Given the description of an element on the screen output the (x, y) to click on. 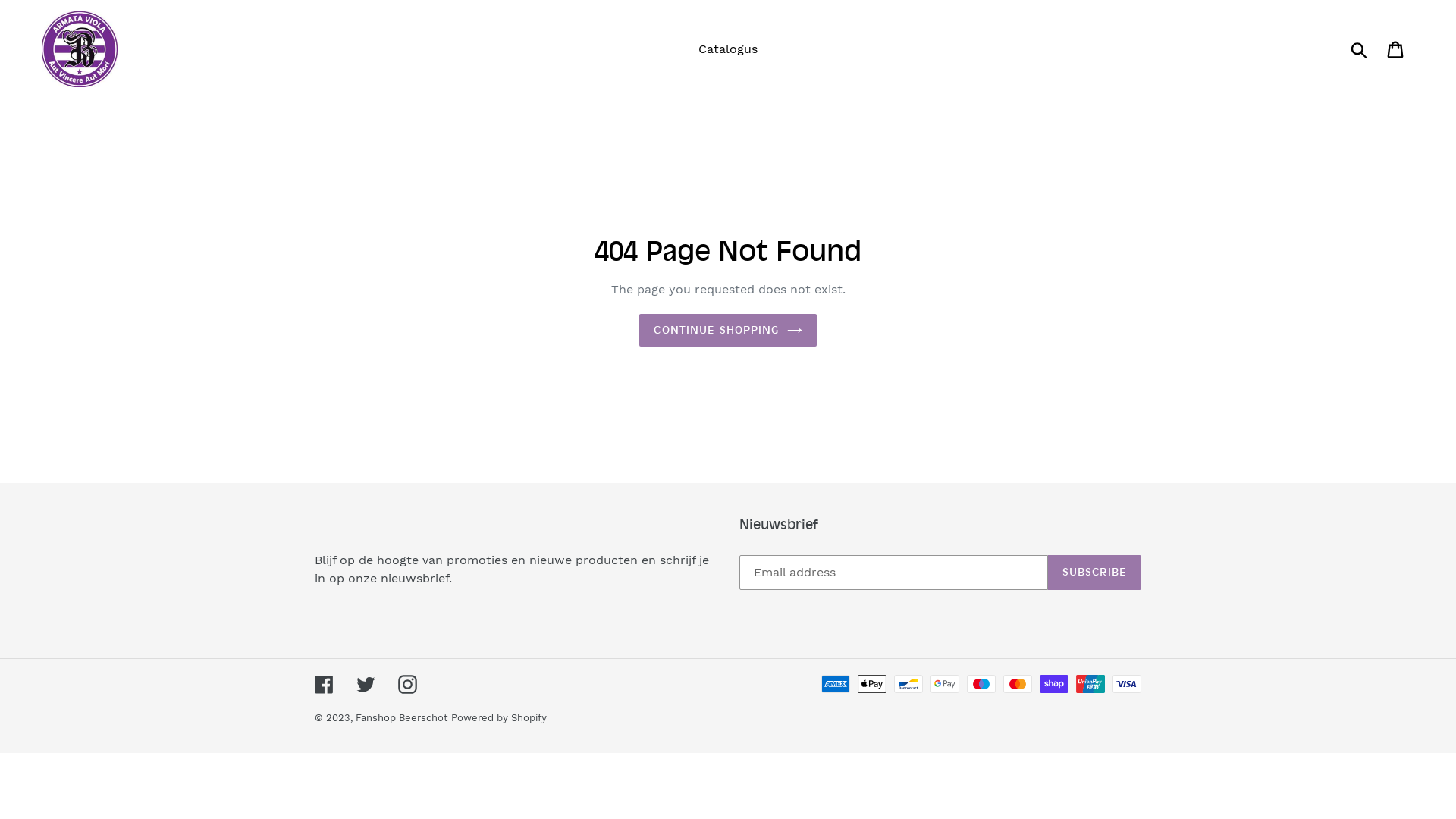
CONTINUE SHOPPING Element type: text (727, 329)
Fanshop Beerschot Element type: text (401, 717)
Powered by Shopify Element type: text (498, 717)
Cart Element type: text (1396, 49)
Twitter Element type: text (365, 684)
Facebook Element type: text (323, 684)
Submit Element type: text (1359, 48)
SUBSCRIBE Element type: text (1094, 572)
Instagram Element type: text (407, 684)
Catalogus Element type: text (727, 48)
